Given the description of an element on the screen output the (x, y) to click on. 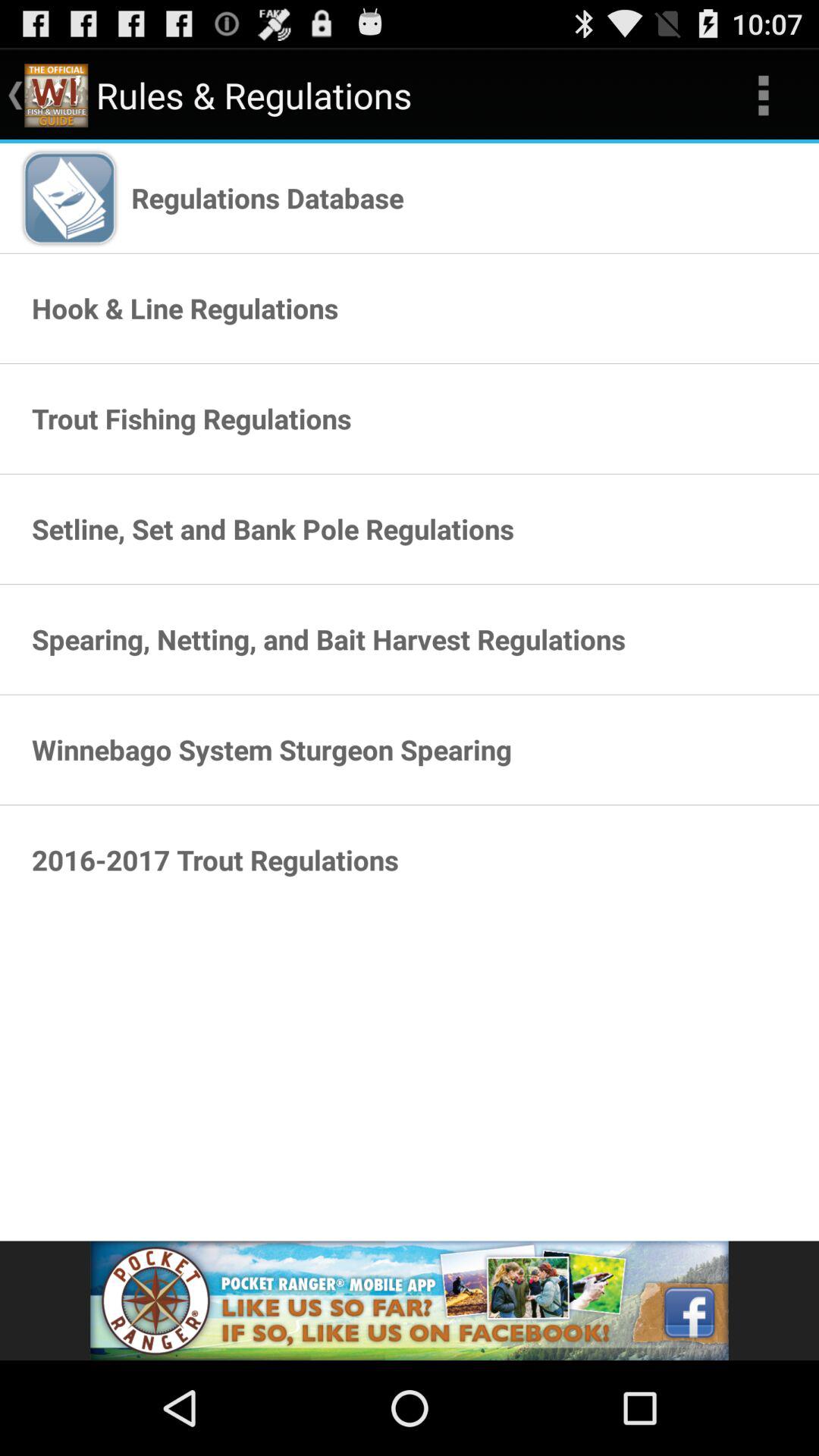
advertisement pannel (409, 1300)
